Given the description of an element on the screen output the (x, y) to click on. 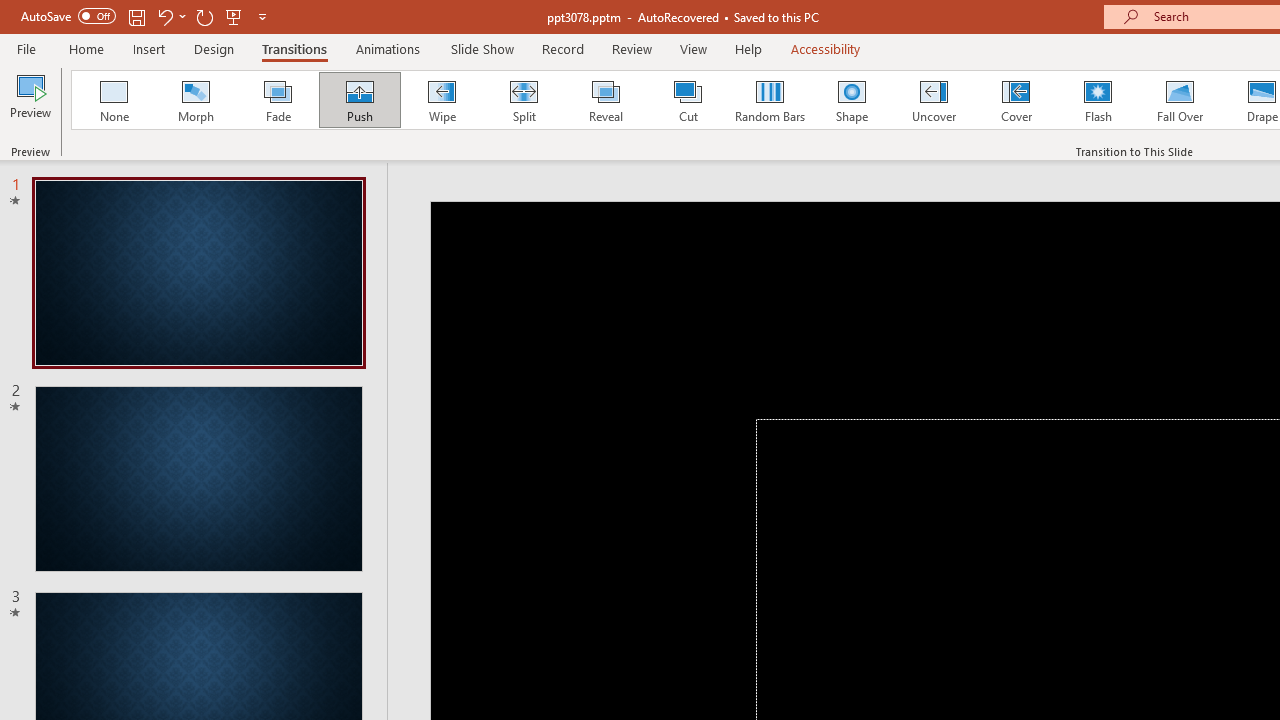
Random Bars (770, 100)
Push (359, 100)
Accessibility (825, 48)
Preview (30, 102)
Flash (1098, 100)
